Given the description of an element on the screen output the (x, y) to click on. 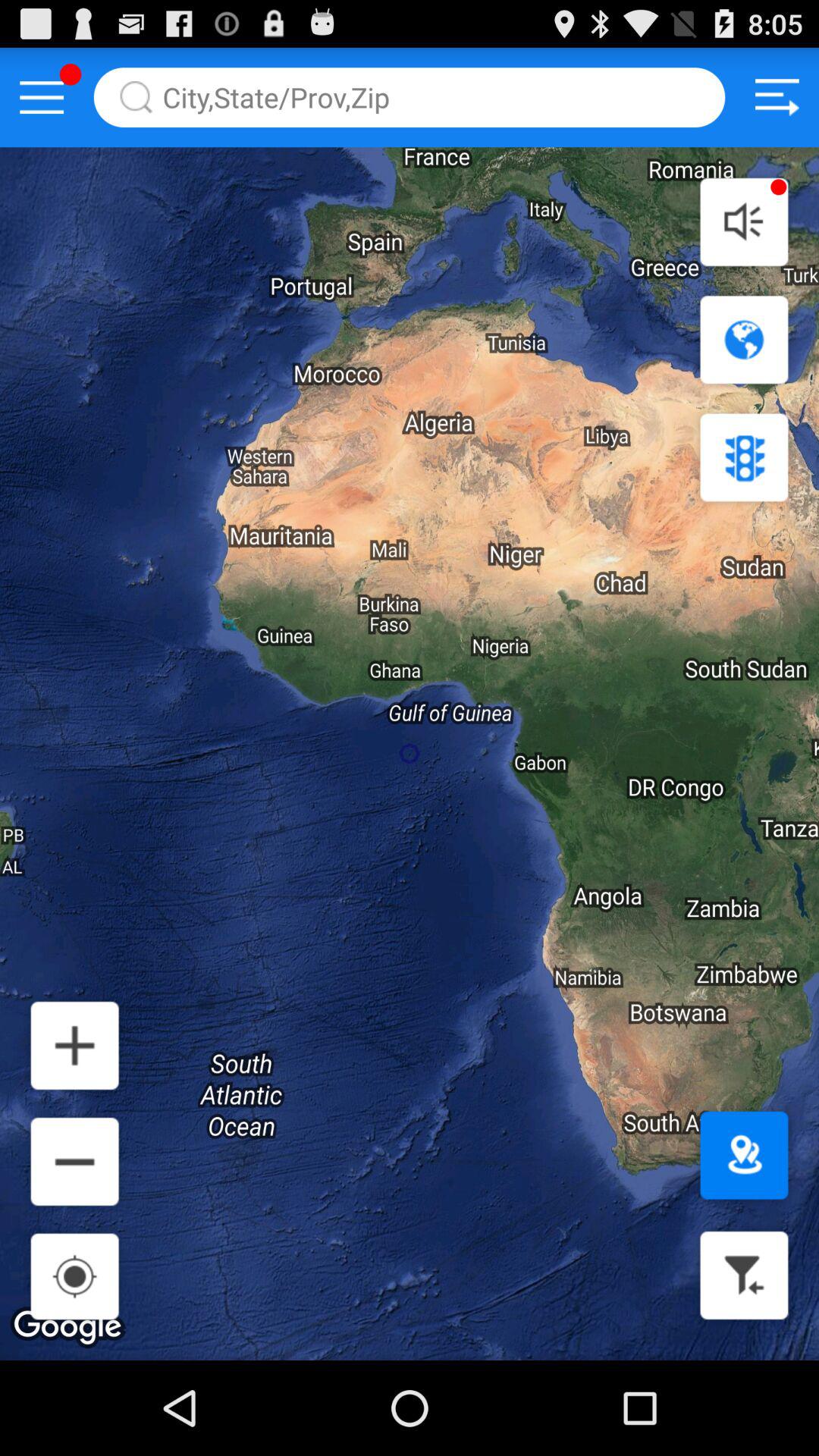
show where you are (744, 1155)
